Given the description of an element on the screen output the (x, y) to click on. 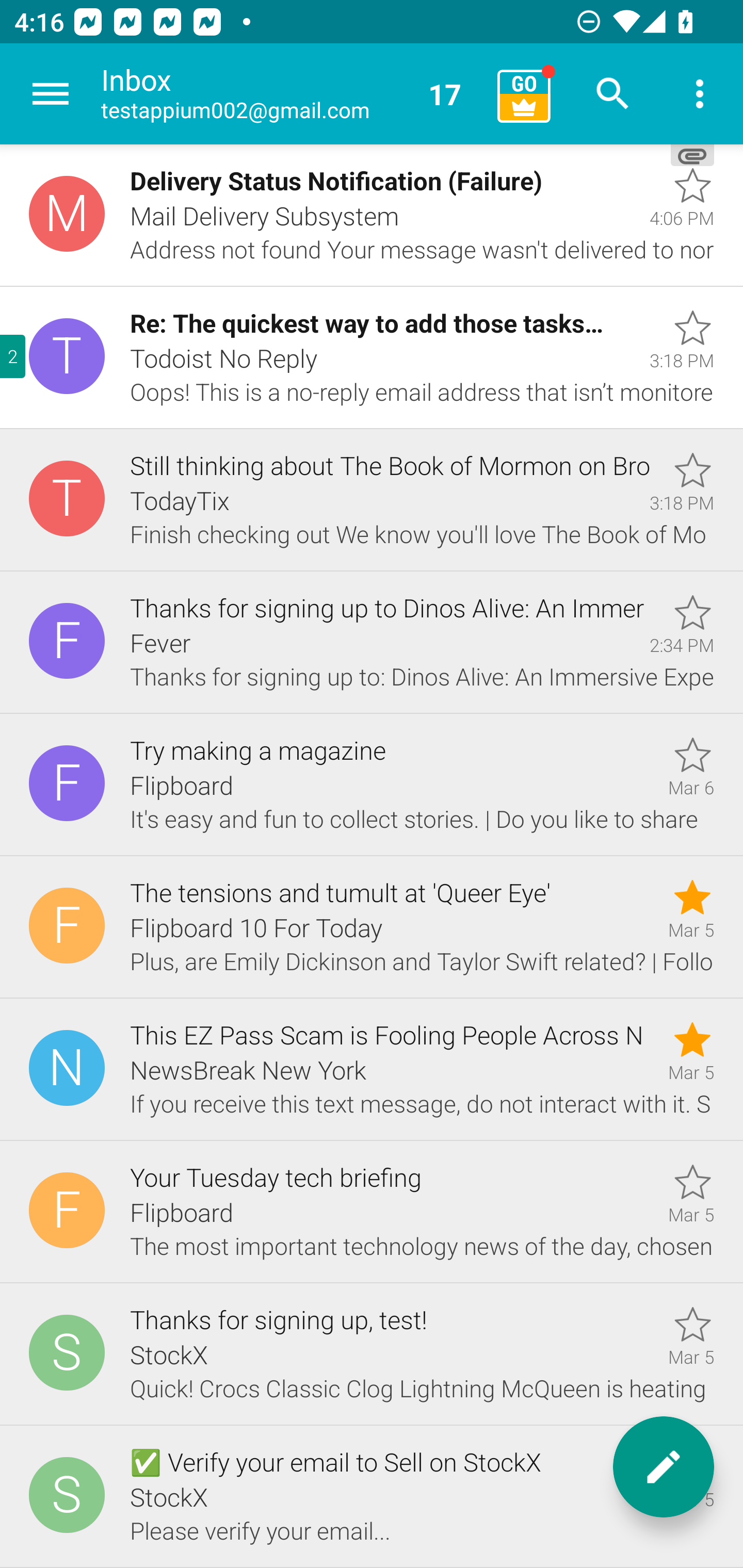
Navigate up (50, 93)
Inbox testappium002@gmail.com 17 (291, 93)
Search (612, 93)
More options (699, 93)
New message (663, 1466)
